Given the description of an element on the screen output the (x, y) to click on. 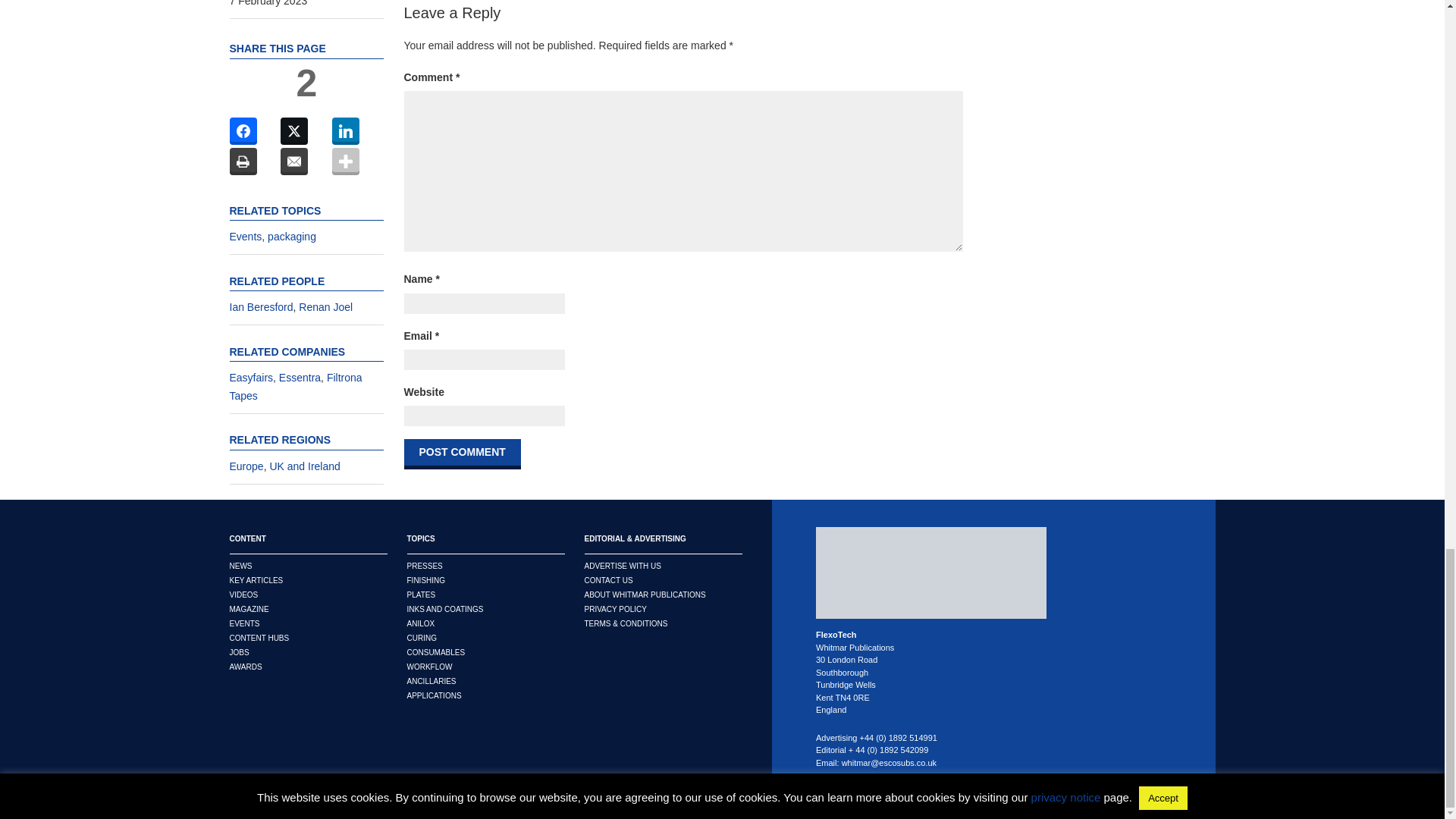
Post Comment (461, 453)
